Given the description of an element on the screen output the (x, y) to click on. 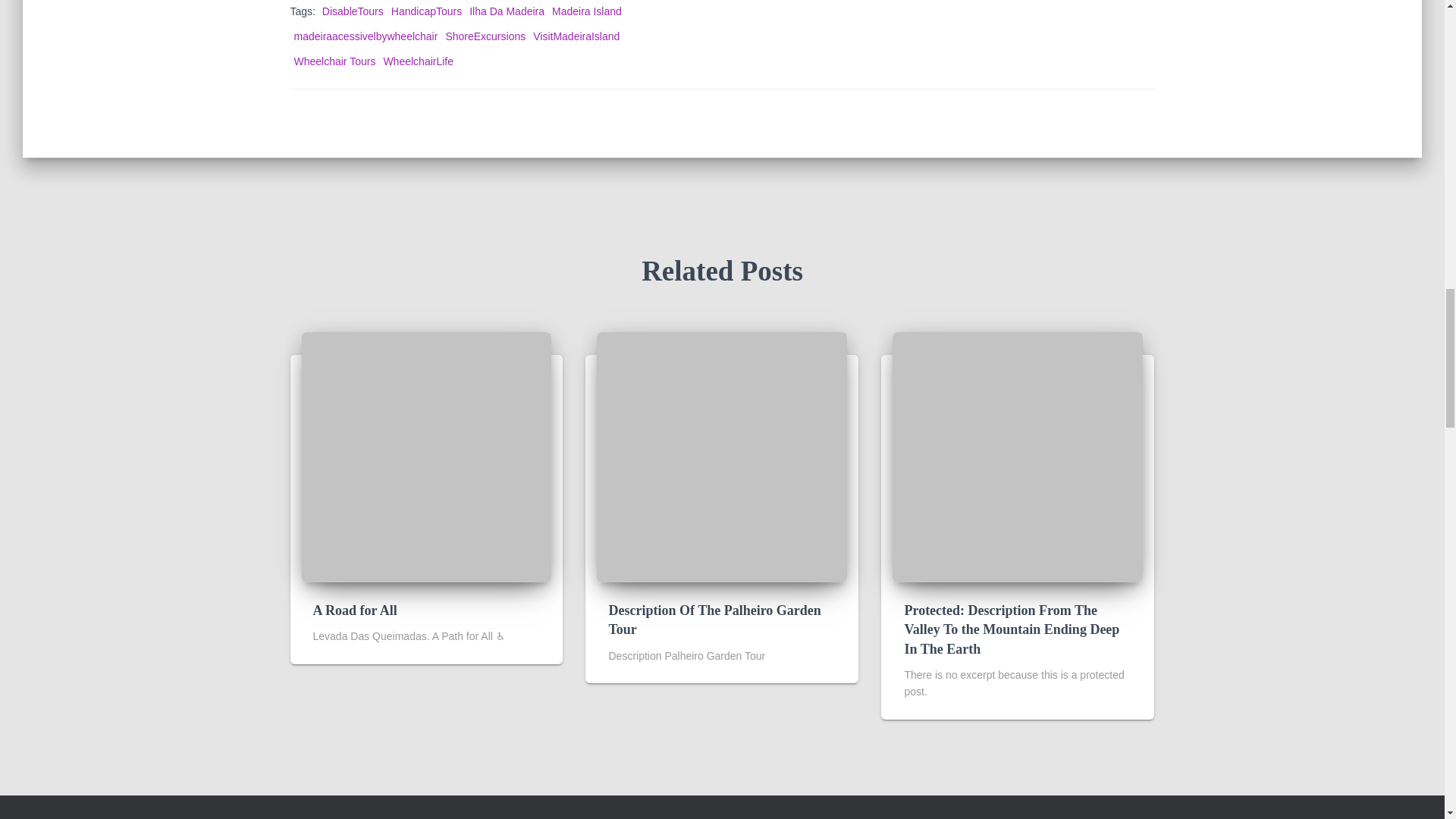
madeiraacessivelbywheelchair (366, 36)
ShoreExcursions (485, 36)
Madeira Island (586, 10)
HandicapTours (426, 10)
Ilha Da Madeira (506, 10)
DisableTours (352, 10)
